Given the description of an element on the screen output the (x, y) to click on. 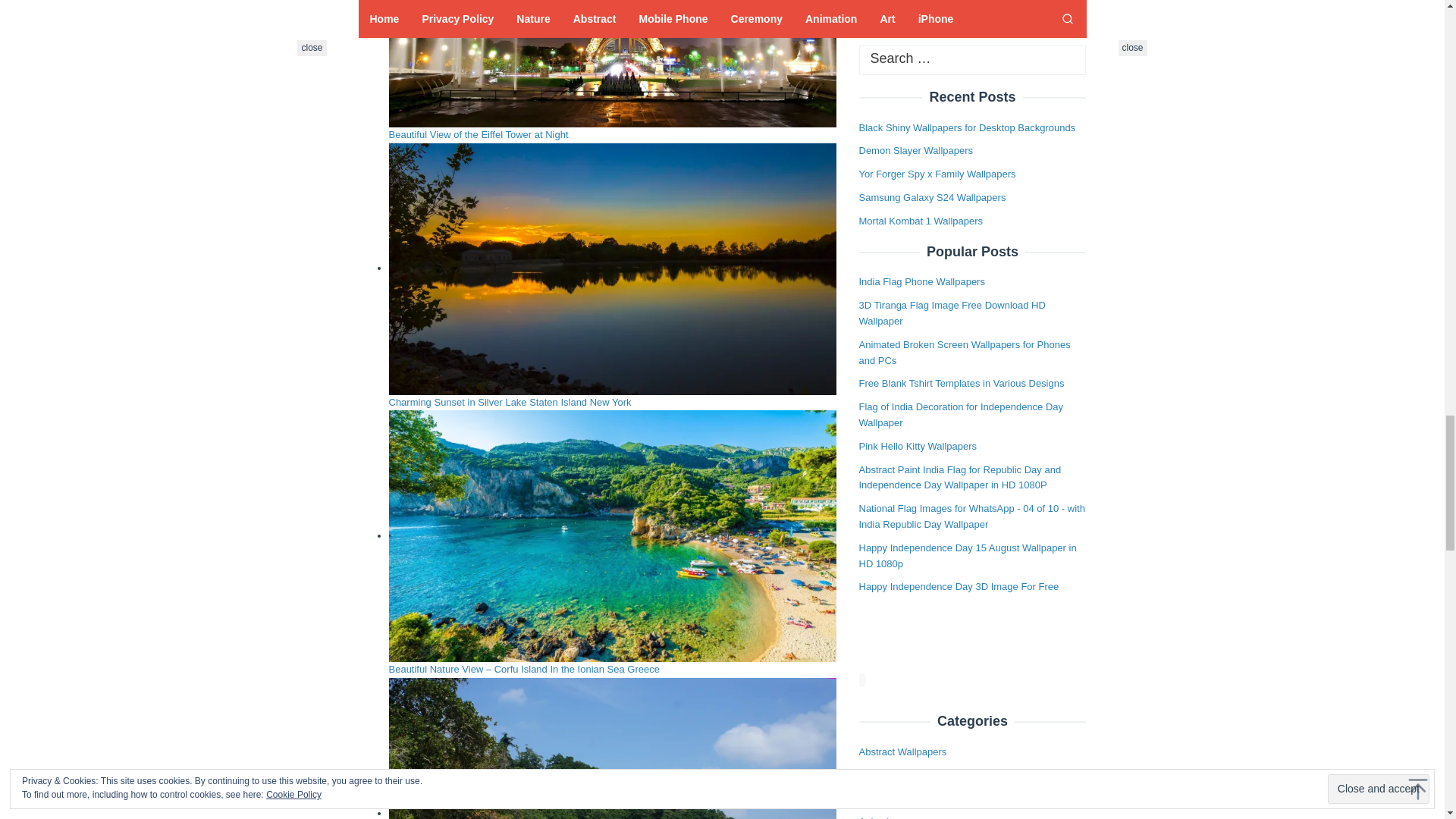
Beautiful View of the Eiffel Tower at Night (477, 134)
Eiffel Tower Paris at night view (611, 63)
Beautiful Nature View - Corfu Island Ionian Sea Greece (611, 535)
Sunset in Silver Lake Staten Island New York (611, 268)
HD Nature Wallpapers with Havelock Island Beach (611, 748)
Charming Sunset in Silver Lake Staten Island New York (509, 401)
